Given the description of an element on the screen output the (x, y) to click on. 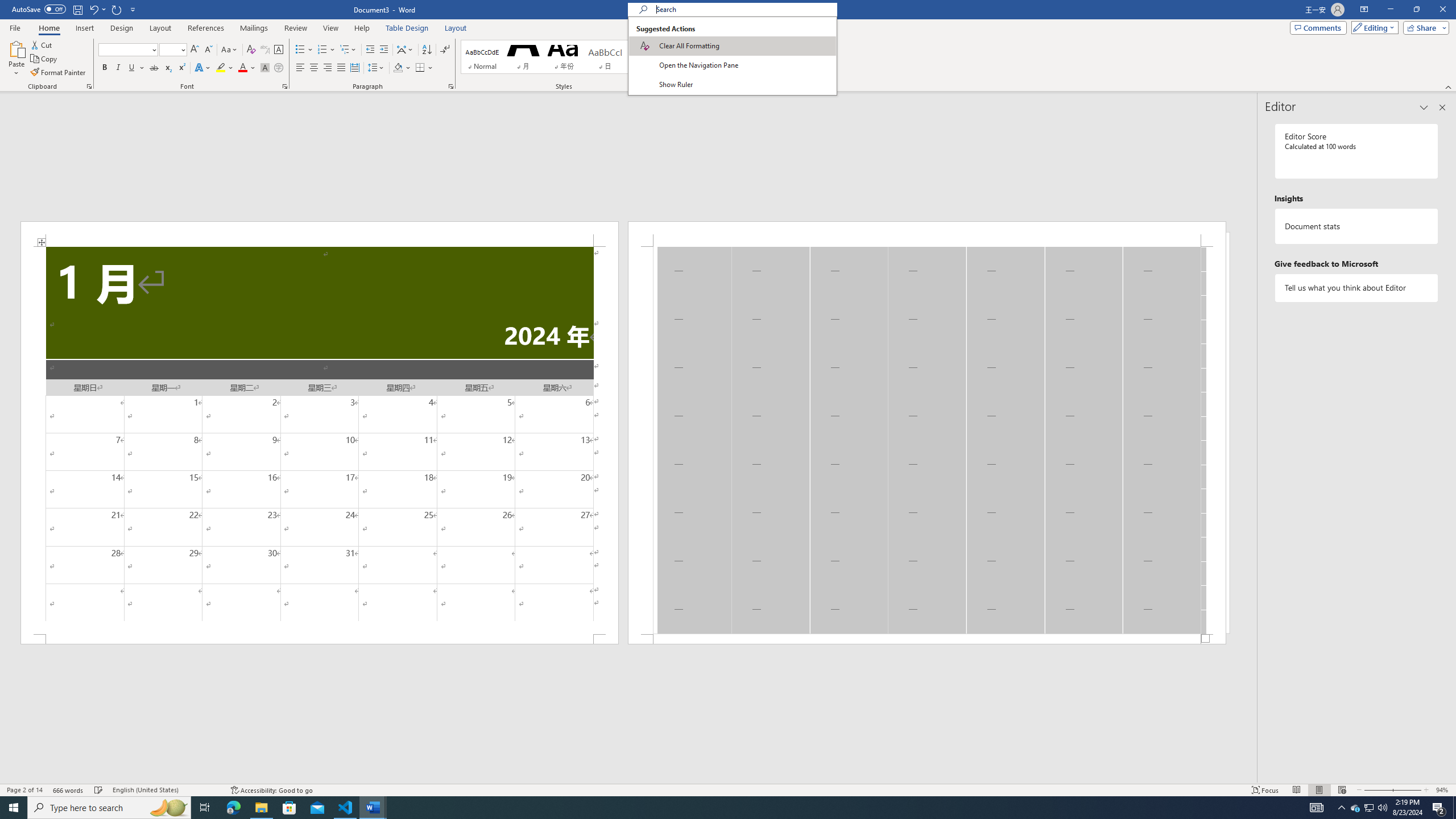
Close (1442, 9)
Distributed (354, 67)
Bullets (304, 49)
Undo Apply Quick Style (96, 9)
View (330, 28)
Format Painter (58, 72)
Text Effects and Typography (202, 67)
More Options (747, 68)
Accessibility Checker Accessibility: Good to go (271, 790)
Class: MsoCommandBar (728, 789)
Mailings (253, 28)
Show Ruler (731, 84)
Class: NetUITWMenuContainer (731, 56)
Row up (670, 45)
